Given the description of an element on the screen output the (x, y) to click on. 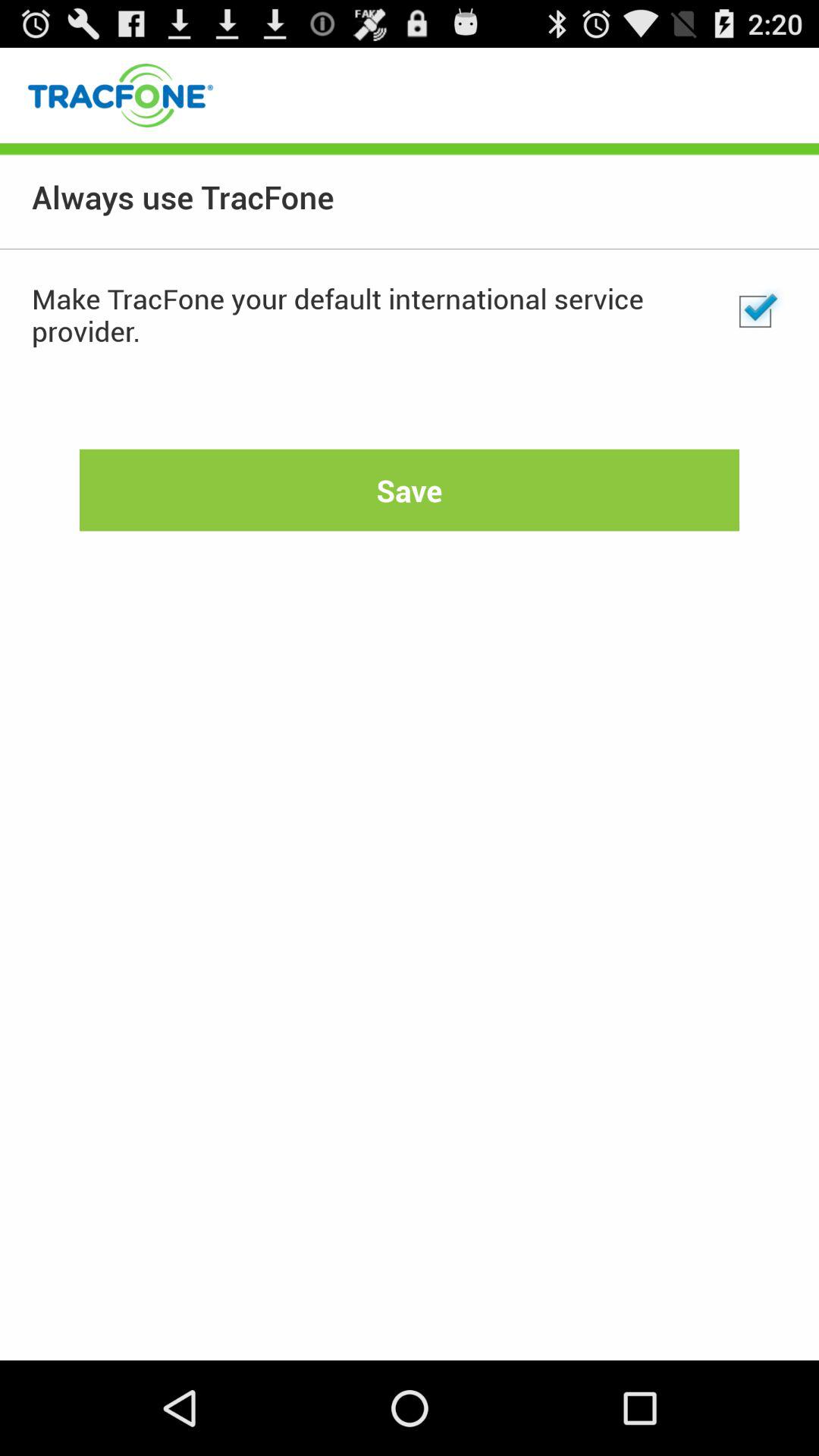
turn off save item (409, 490)
